Given the description of an element on the screen output the (x, y) to click on. 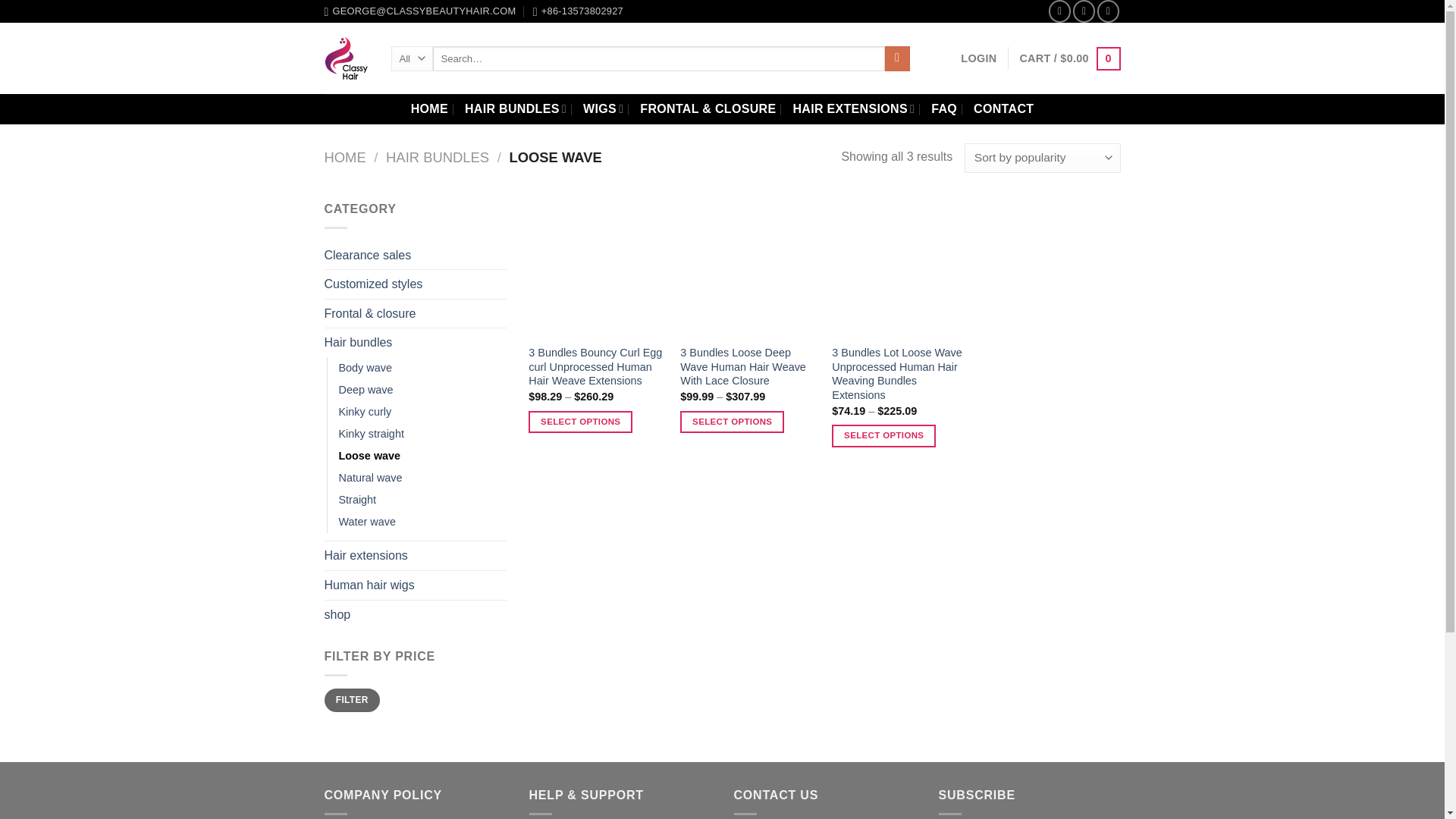
Clearance sales (415, 255)
CONTACT (1003, 108)
HOME (429, 108)
HOME (345, 157)
Customized styles (415, 284)
HAIR EXTENSIONS (853, 108)
FAQ (943, 108)
HAIR BUNDLES (437, 157)
Follow on Facebook (1059, 11)
